Given the description of an element on the screen output the (x, y) to click on. 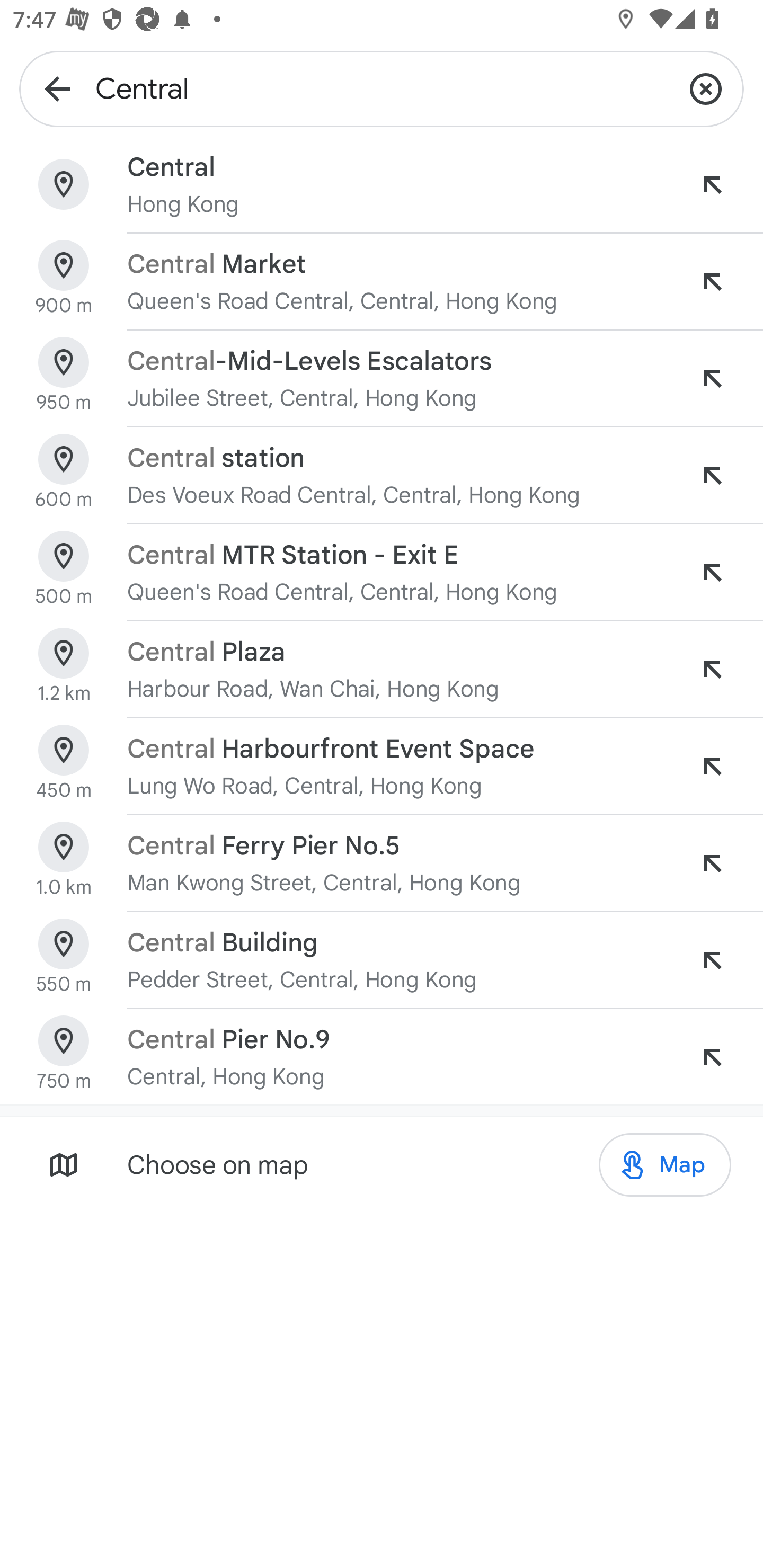
Navigate up (57, 88)
Central (381, 88)
Clear (705, 88)
Choose on map Map Map Map (381, 1164)
Map Map Map (664, 1164)
